Given the description of an element on the screen output the (x, y) to click on. 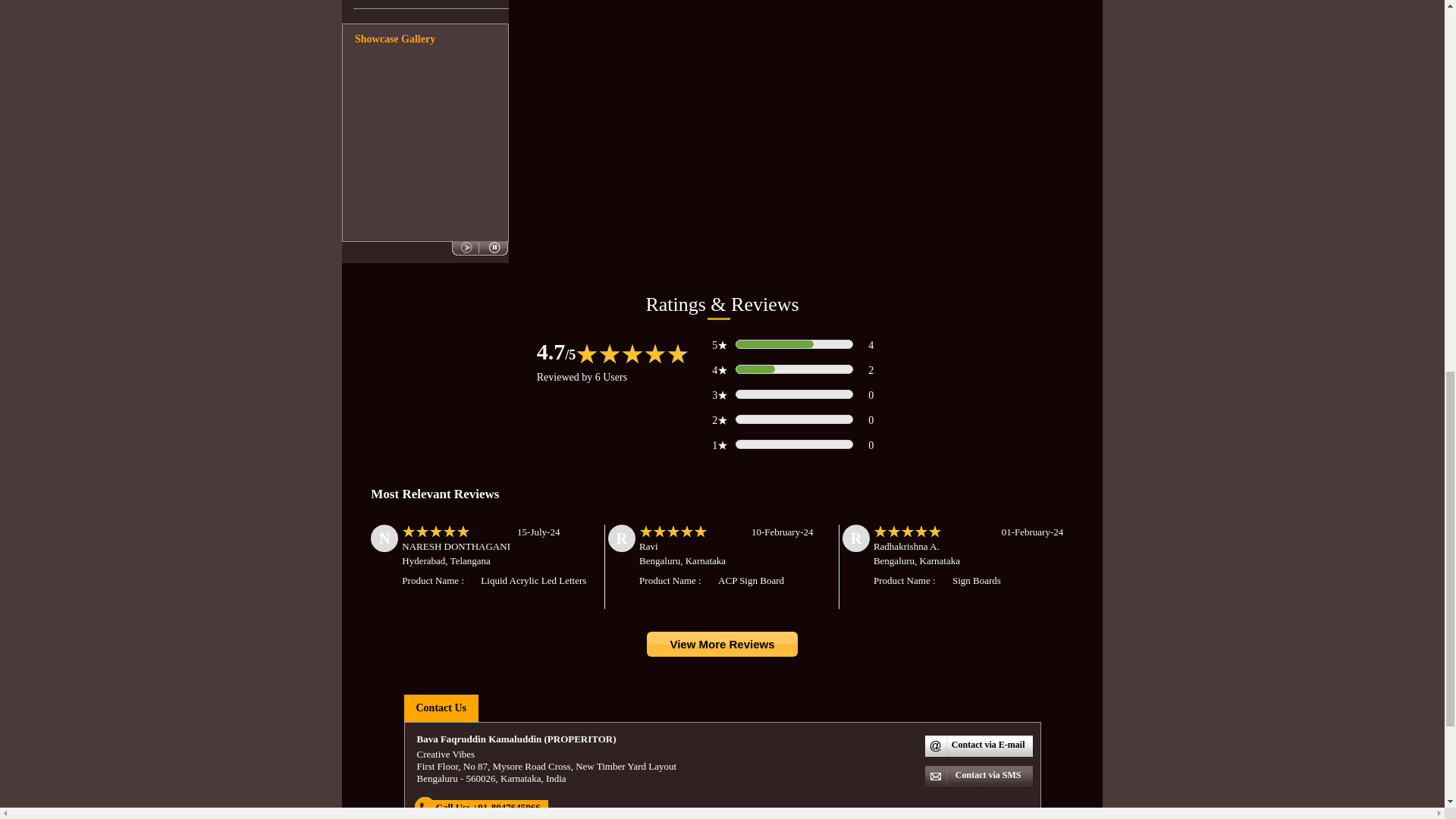
4.7 out of 5 Votes (556, 351)
